Given the description of an element on the screen output the (x, y) to click on. 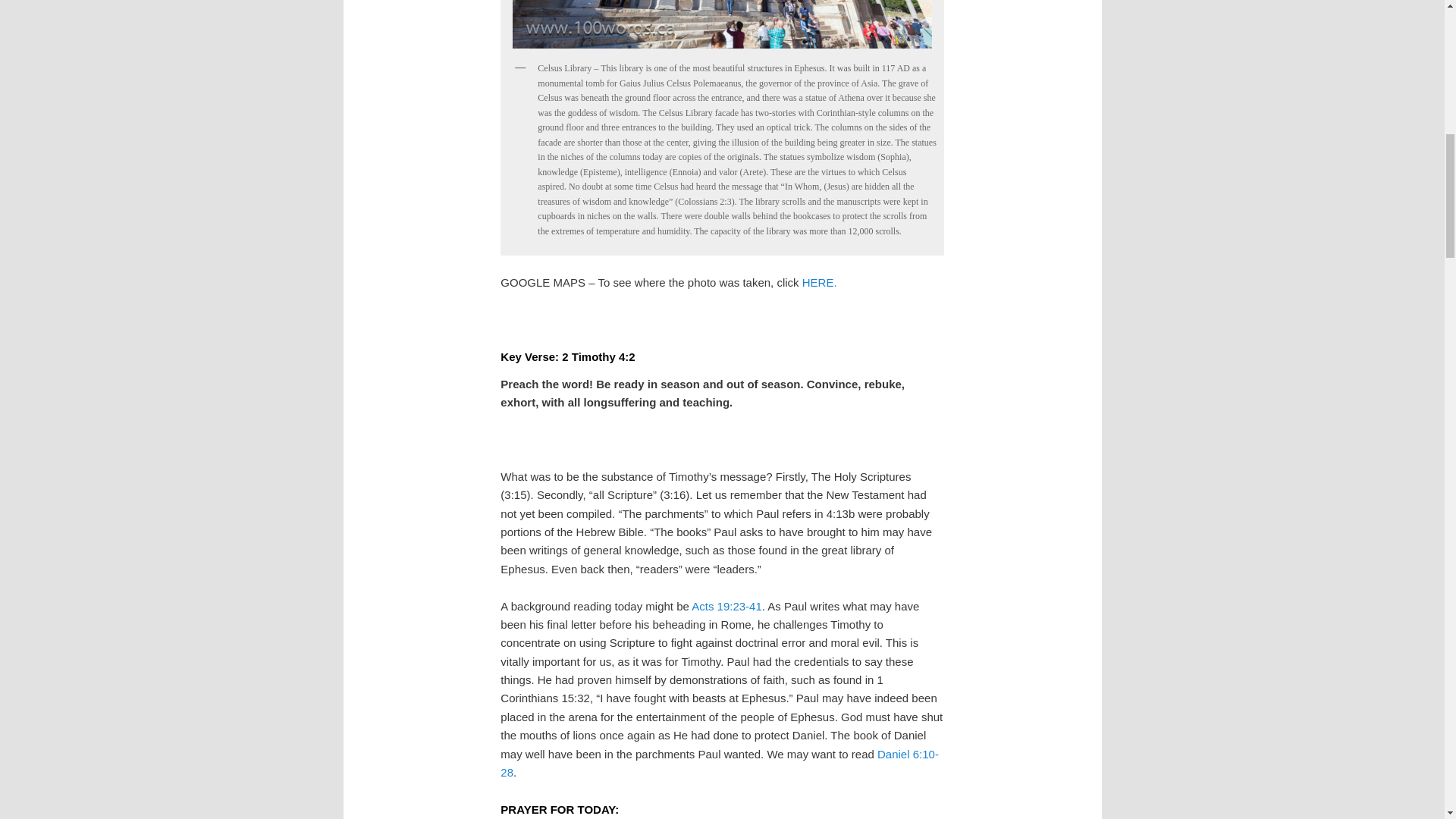
September 9, 2013 (721, 27)
Acts 19:23-41 (726, 605)
Daniel 6:10-28 (719, 762)
HERE. (819, 282)
